Given the description of an element on the screen output the (x, y) to click on. 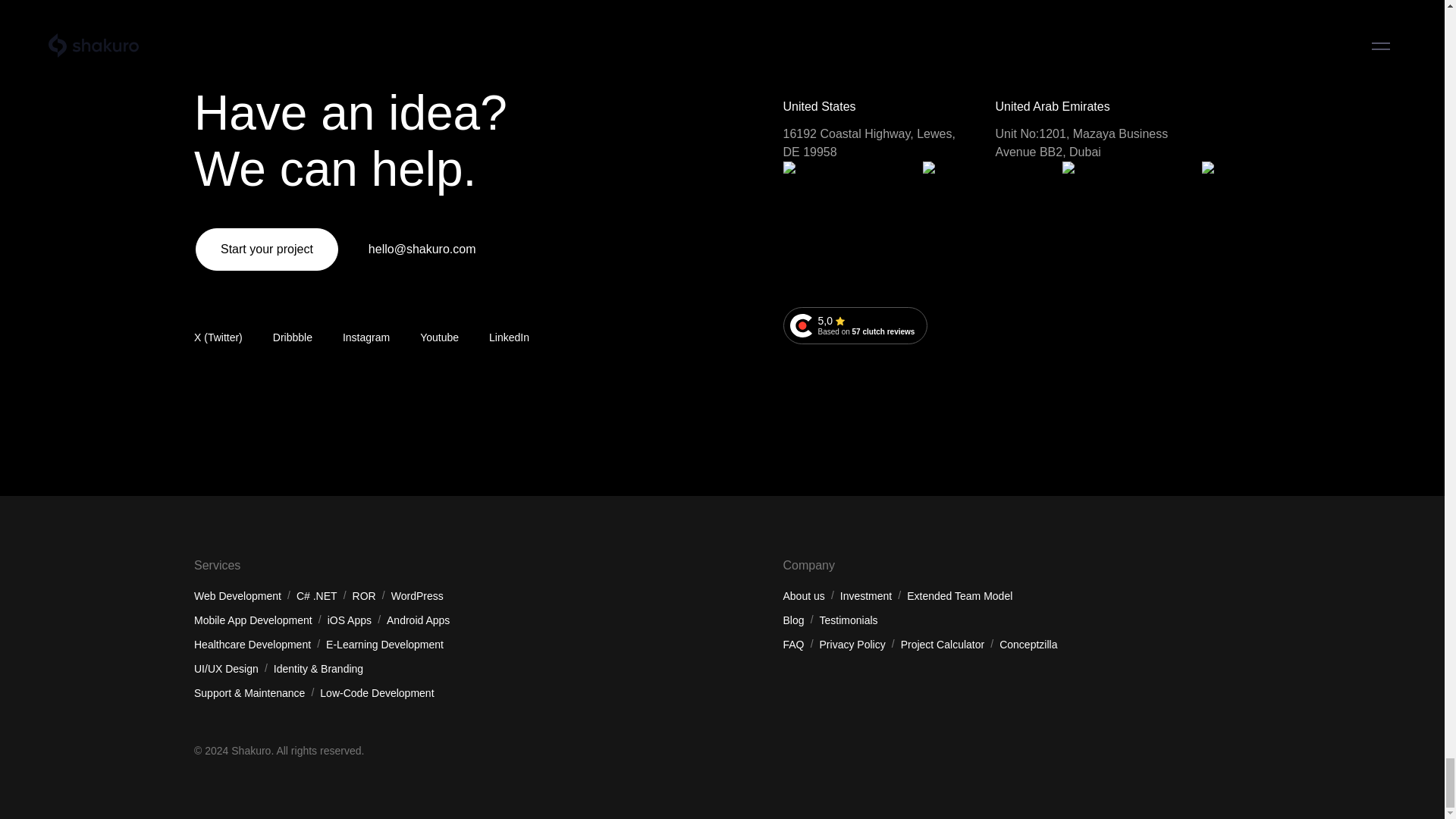
LinkedIn (509, 337)
Dribbble (293, 337)
Start your project (266, 249)
Instagram (366, 337)
Dribbble (293, 337)
LinkedIn (509, 337)
Instagram (855, 325)
Youtube (366, 337)
Youtube (439, 337)
